Given the description of an element on the screen output the (x, y) to click on. 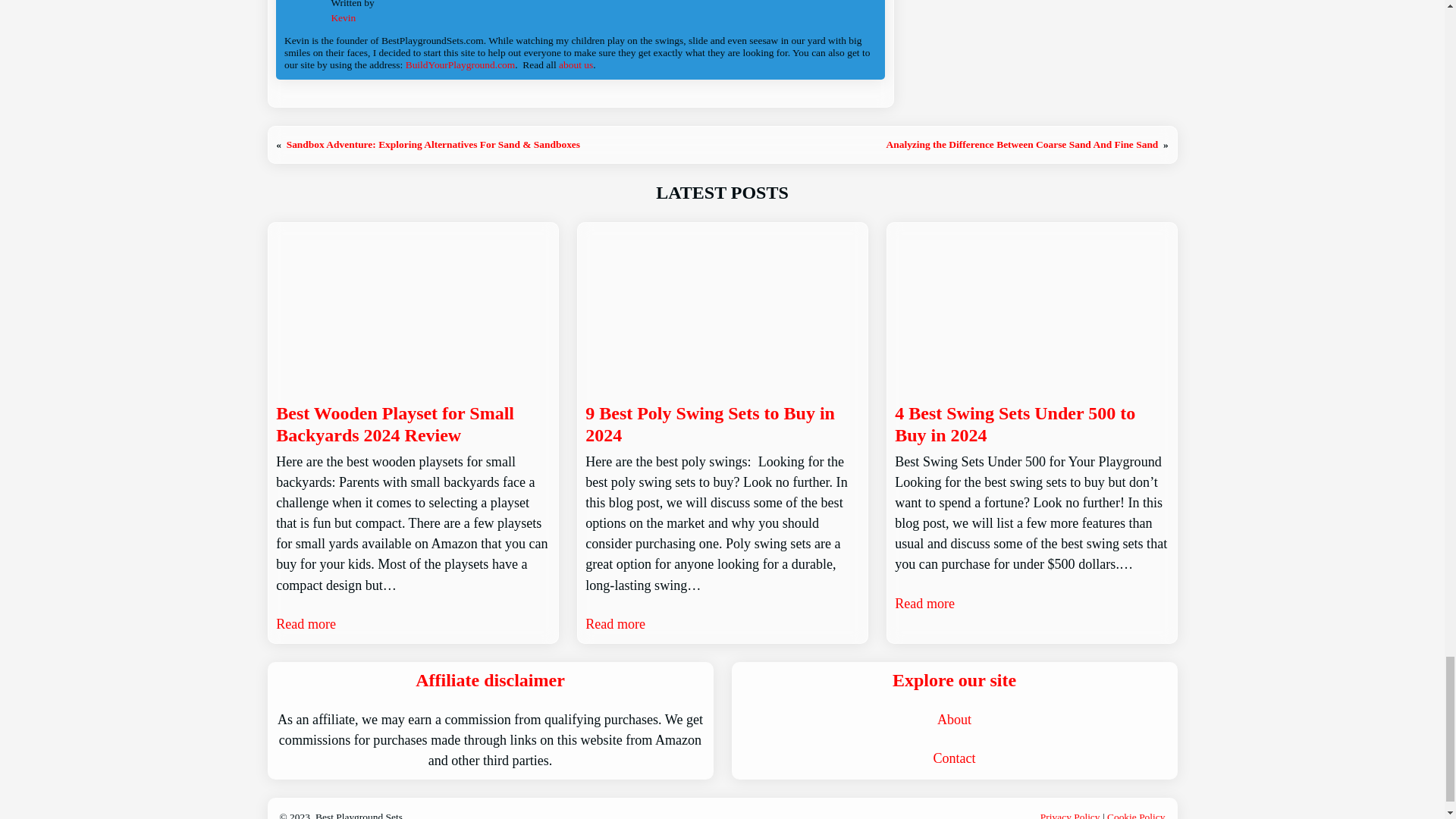
BuildYourPlayground.com (460, 64)
Kevin (342, 17)
Read more (306, 624)
Analyzing the Difference Between Coarse Sand And Fine Sand (1021, 143)
Best Wooden Playset for Small Backyards 2024 Review (413, 424)
about us (575, 64)
